Given the description of an element on the screen output the (x, y) to click on. 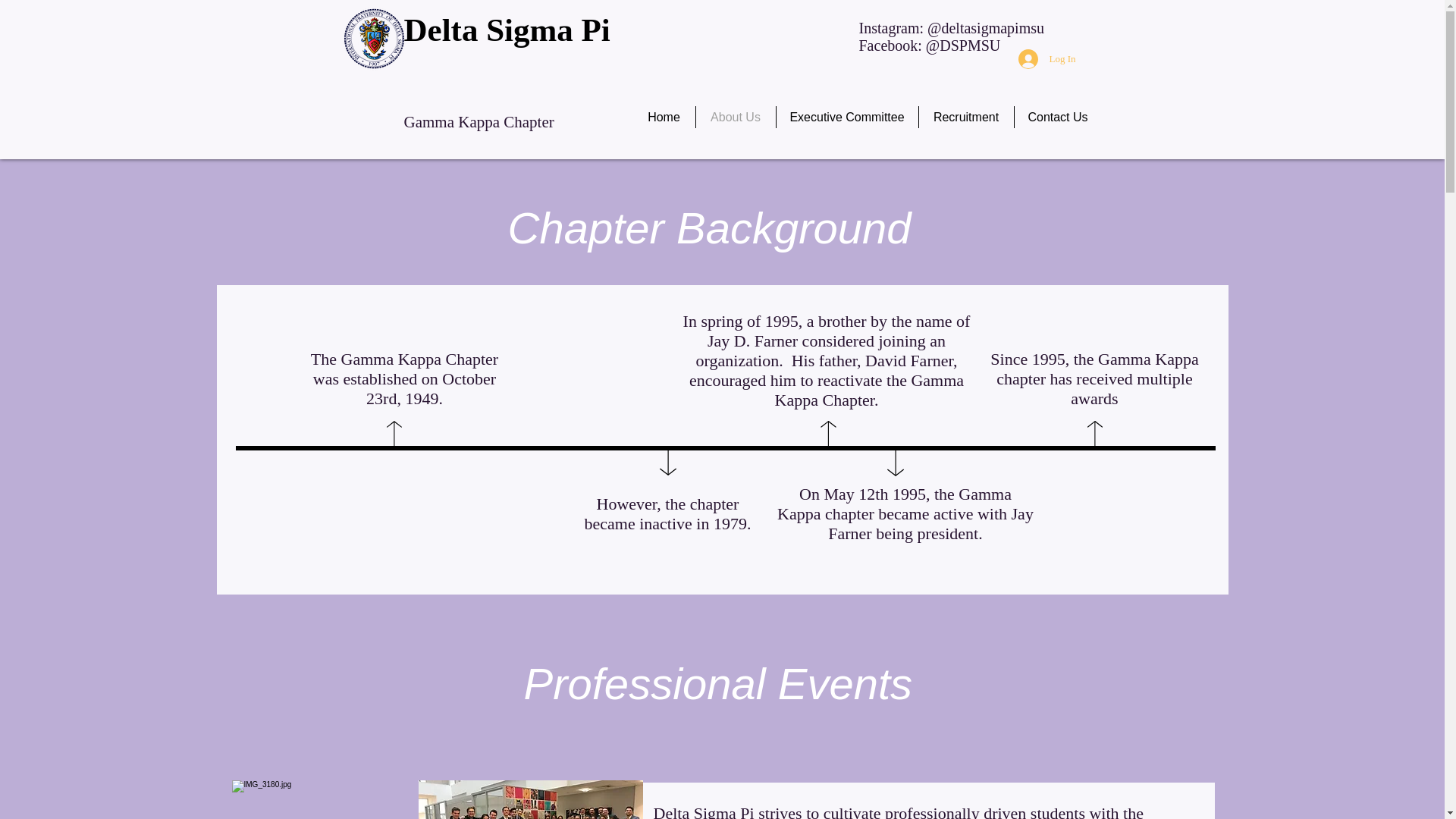
About Us (735, 116)
Contact Us (1058, 116)
Home (662, 116)
Executive Committee (847, 116)
Recruitment (965, 116)
Log In (1046, 59)
